Given the description of an element on the screen output the (x, y) to click on. 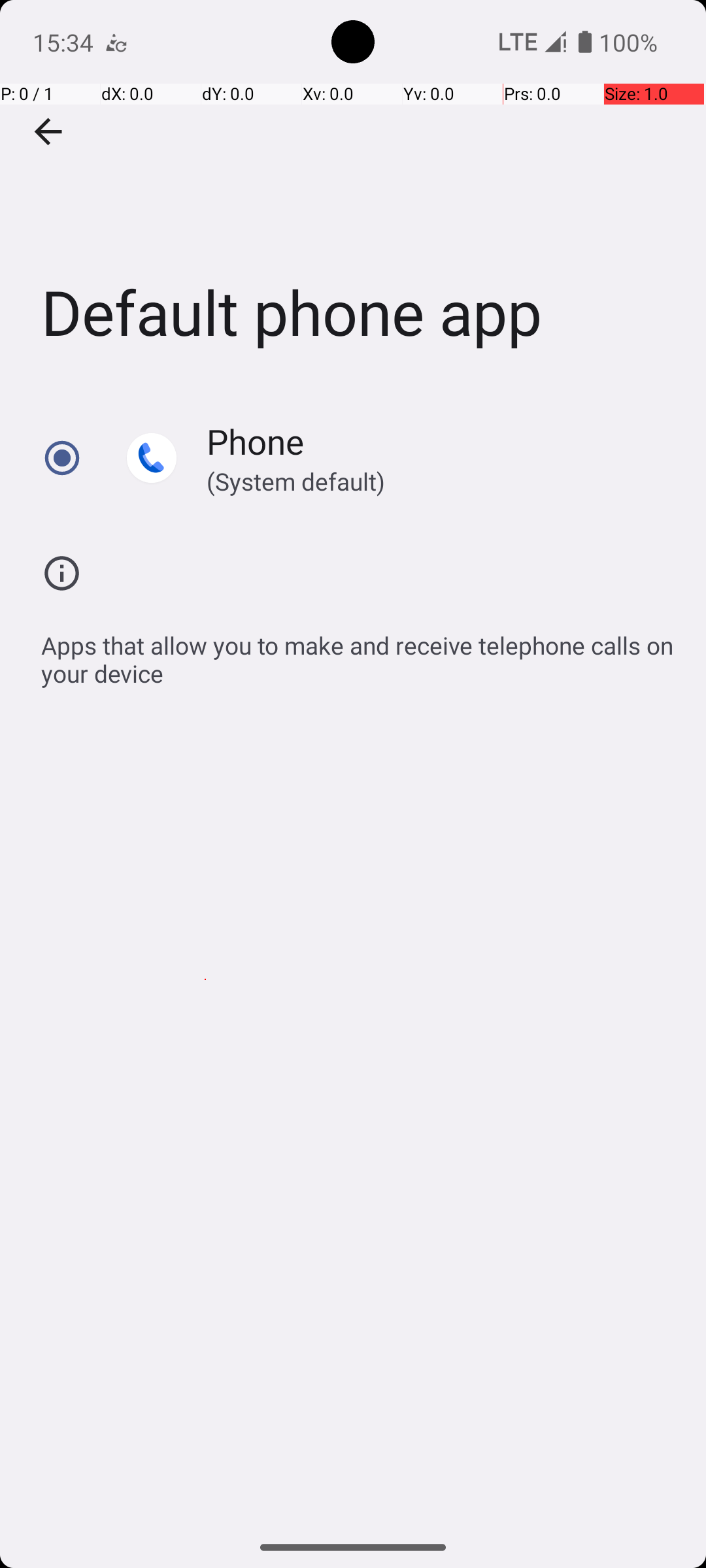
Default phone app Element type: android.widget.FrameLayout (353, 195)
(System default) Element type: android.widget.TextView (428, 480)
Apps that allow you to make and receive telephone calls on your device Element type: android.widget.TextView (359, 652)
